Given the description of an element on the screen output the (x, y) to click on. 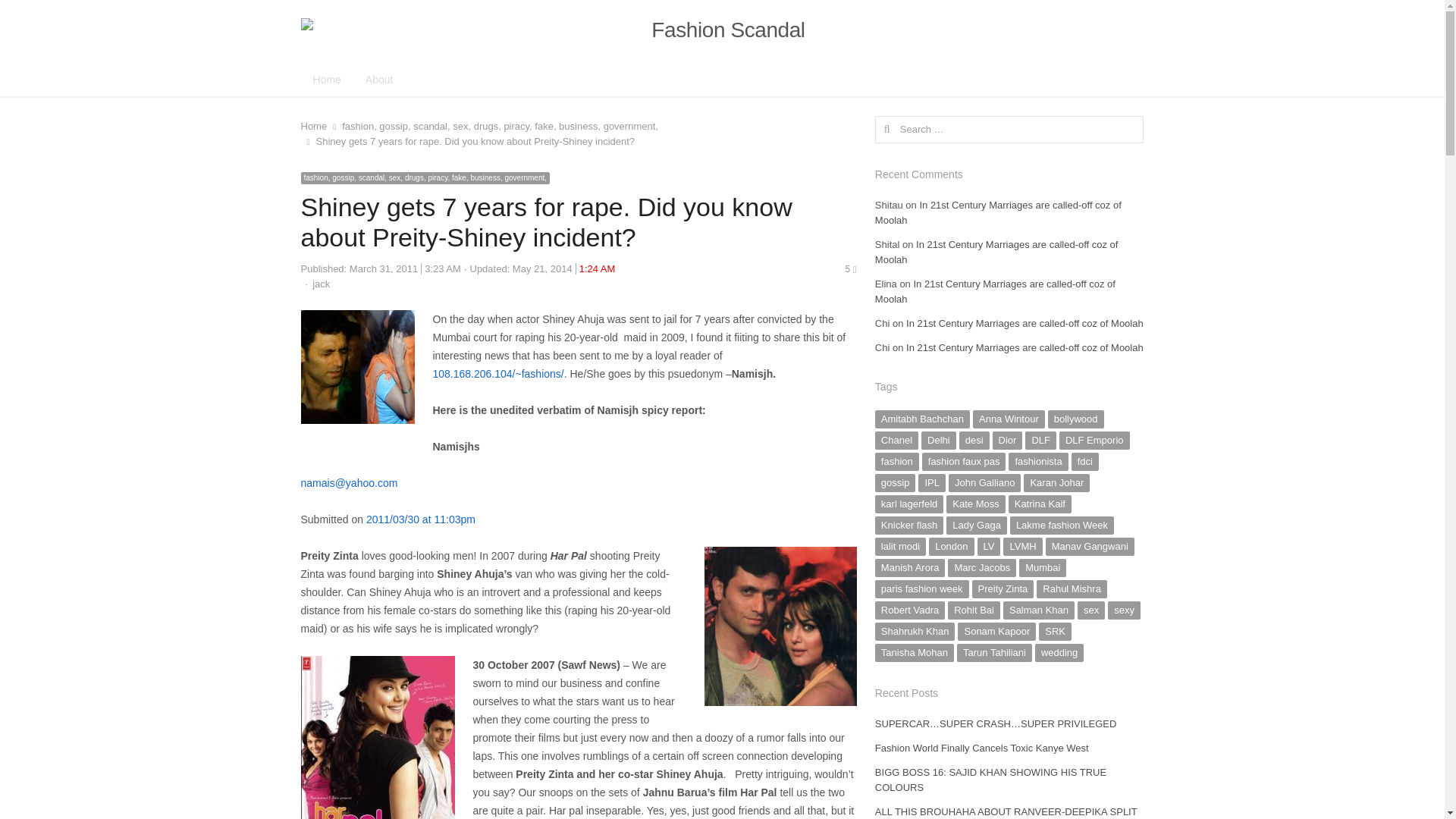
5 (850, 268)
Home (325, 79)
About (379, 79)
Har Pal (376, 737)
jack (321, 283)
Fashion Scandal (720, 30)
Home (312, 125)
